Given the description of an element on the screen output the (x, y) to click on. 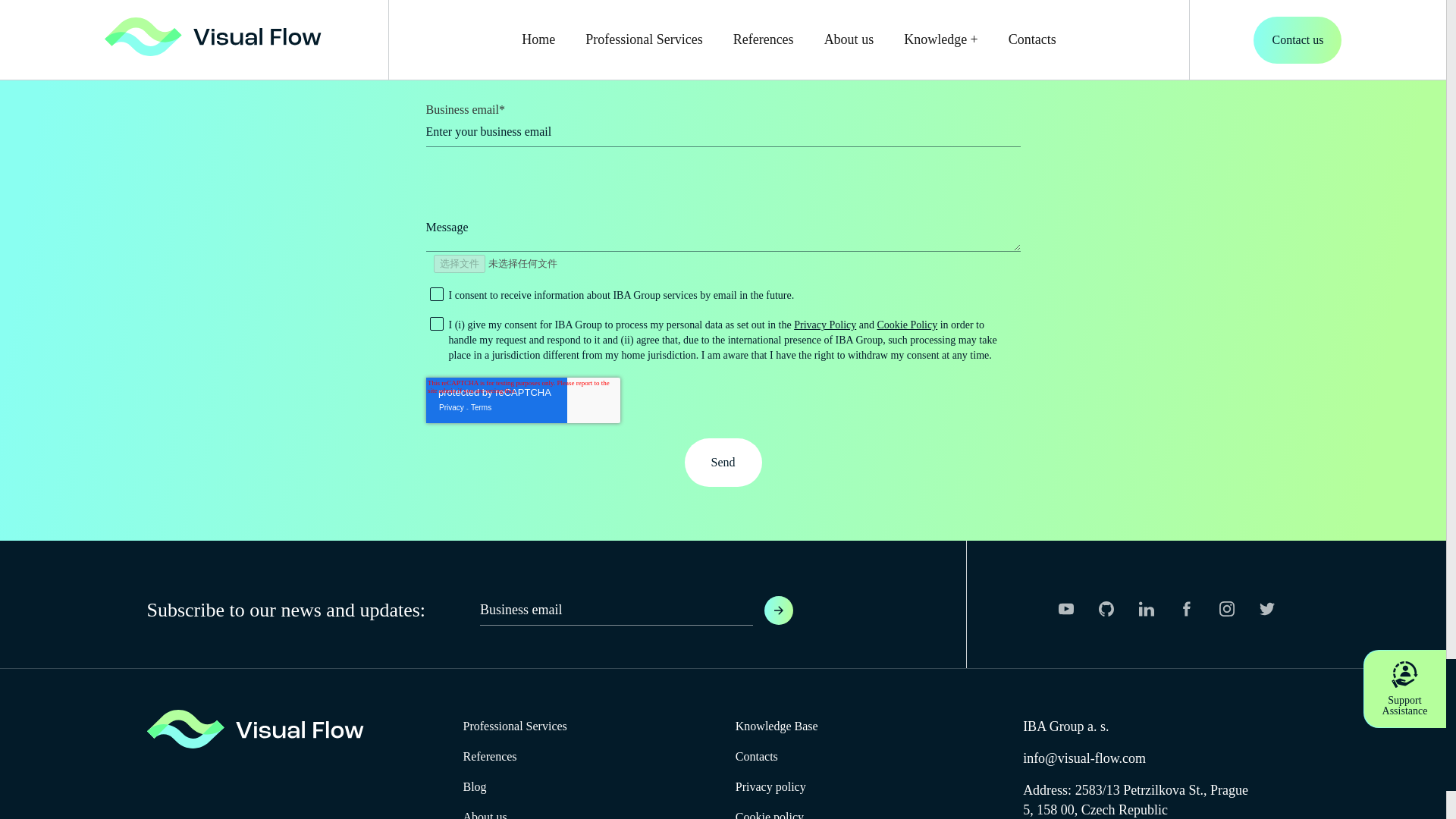
Send (722, 462)
